Given the description of an element on the screen output the (x, y) to click on. 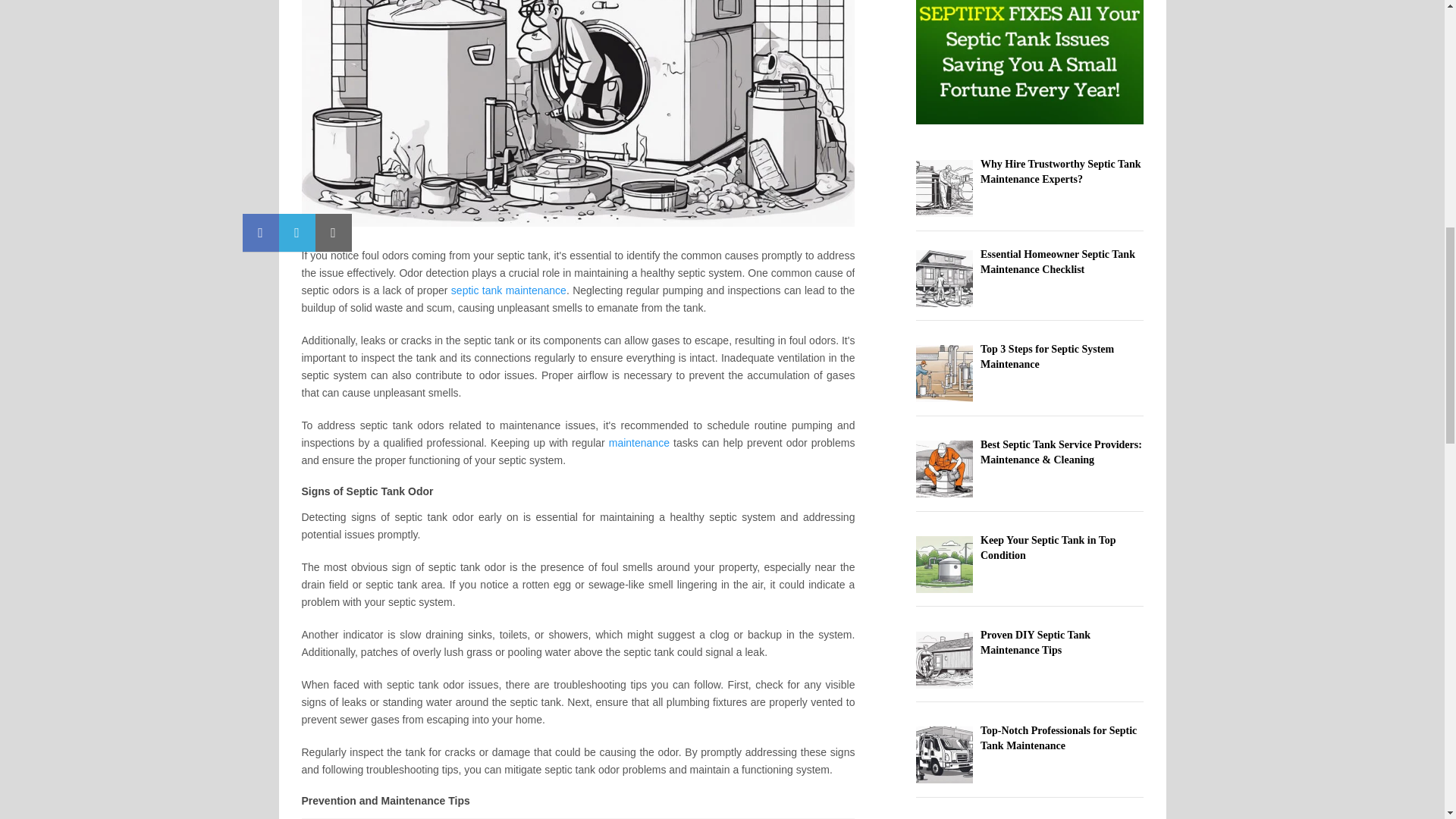
Top-Notch Professionals for Septic Tank Maintenance (1058, 737)
Get FREE Septic Service Quote! (638, 442)
Keep Your Septic Tank in Top Condition (1047, 547)
maintenance (638, 442)
Why Hire Trustworthy Septic Tank Maintenance Experts? (1060, 171)
Proven DIY Septic Tank Maintenance Tips (1034, 642)
Septic Tank Treatment Tablets (508, 290)
septic tank maintenance (508, 290)
Essential Homeowner Septic Tank Maintenance Checklist (1057, 261)
Top 3 Steps for Septic System Maintenance (1046, 356)
